Given the description of an element on the screen output the (x, y) to click on. 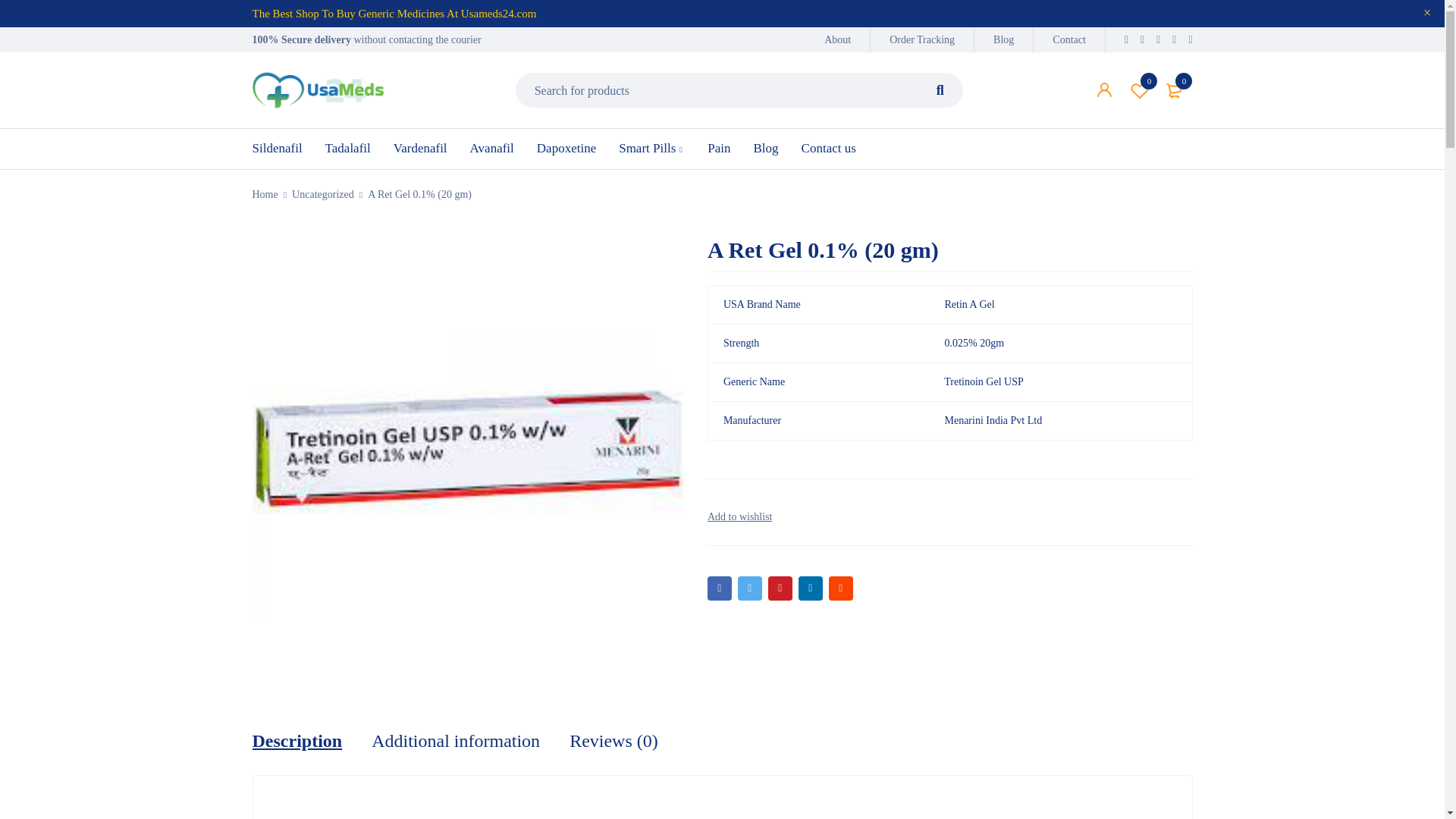
Search (939, 89)
View your shopping cart (1174, 89)
Wishlist (1139, 89)
Blog (1139, 89)
About (1003, 39)
Contact (837, 39)
0 (1069, 39)
Usameds24.com (1174, 89)
Order Tracking (318, 89)
Search (922, 39)
